Given the description of an element on the screen output the (x, y) to click on. 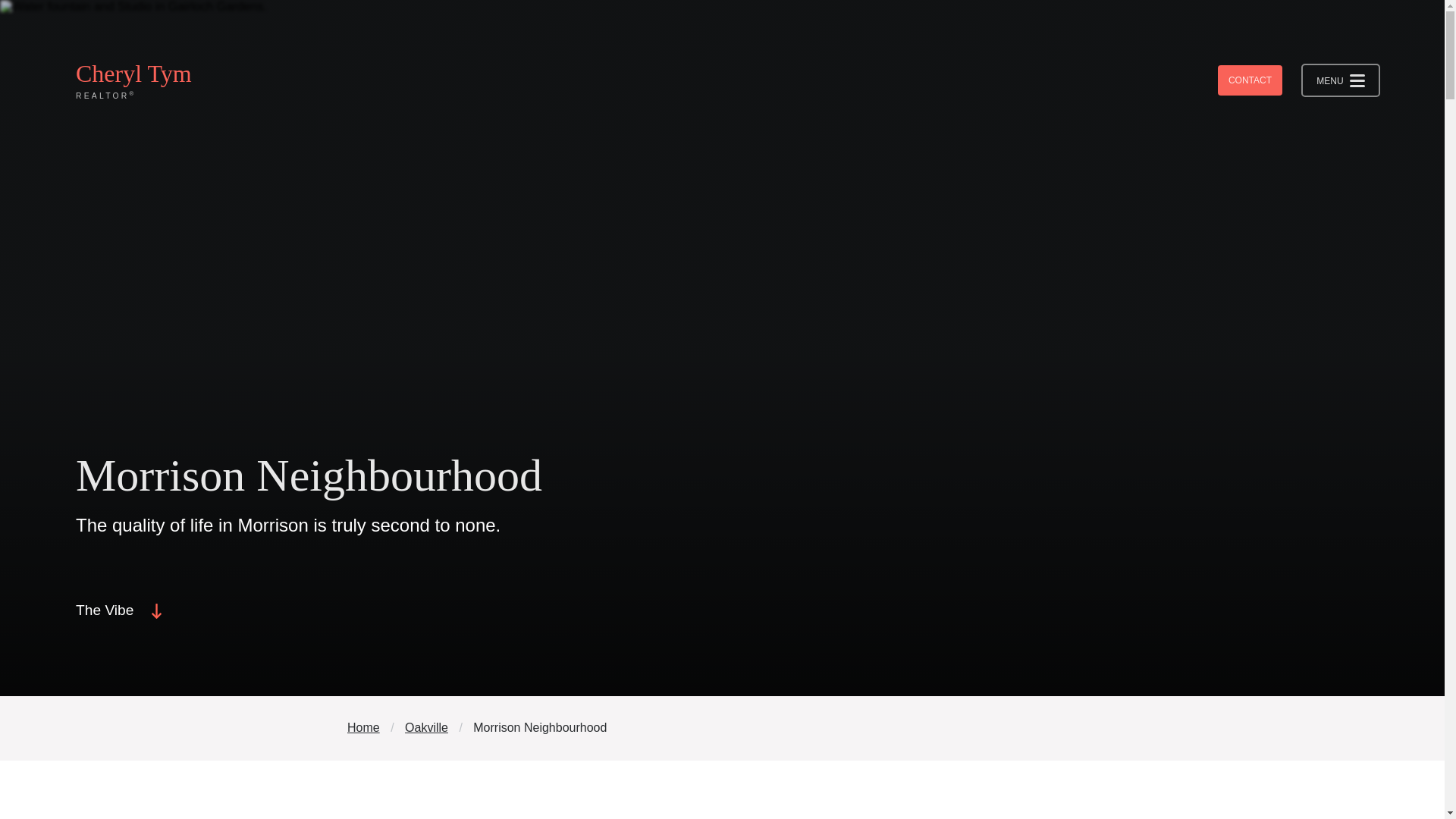
The Vibe (121, 610)
Home (363, 727)
Oakville (426, 727)
The Vibe (121, 610)
